Given the description of an element on the screen output the (x, y) to click on. 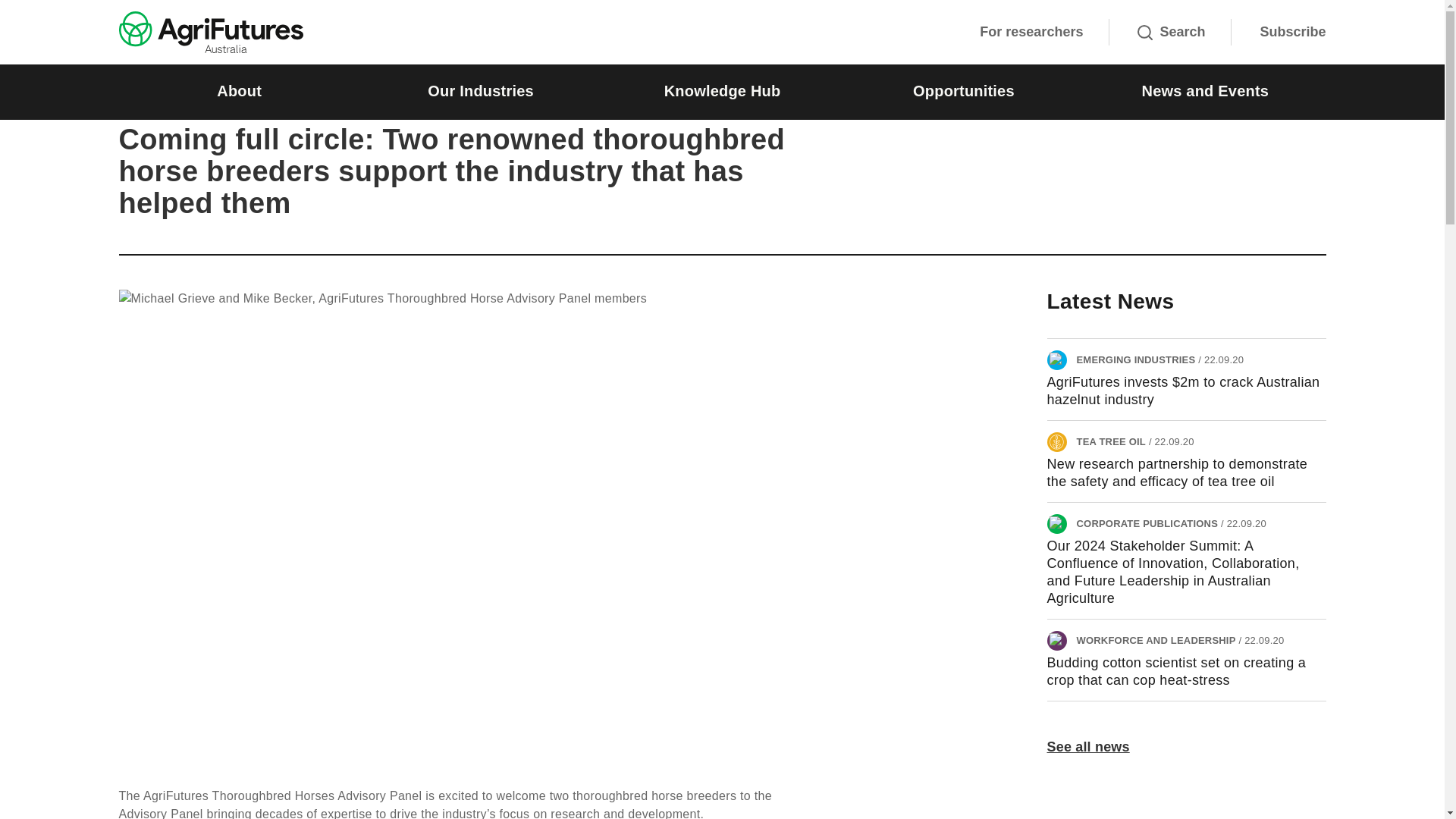
Opportunities (963, 91)
Share Link (1279, 100)
Share via Email (1243, 100)
Share on Twitter (1149, 100)
Our Industries (480, 91)
Search (1171, 31)
About (238, 91)
Knowledge Hub (722, 91)
Subscribe (1291, 31)
For researchers (1031, 31)
Print (1315, 100)
Share on LinkedIn (1209, 100)
